Given the description of an element on the screen output the (x, y) to click on. 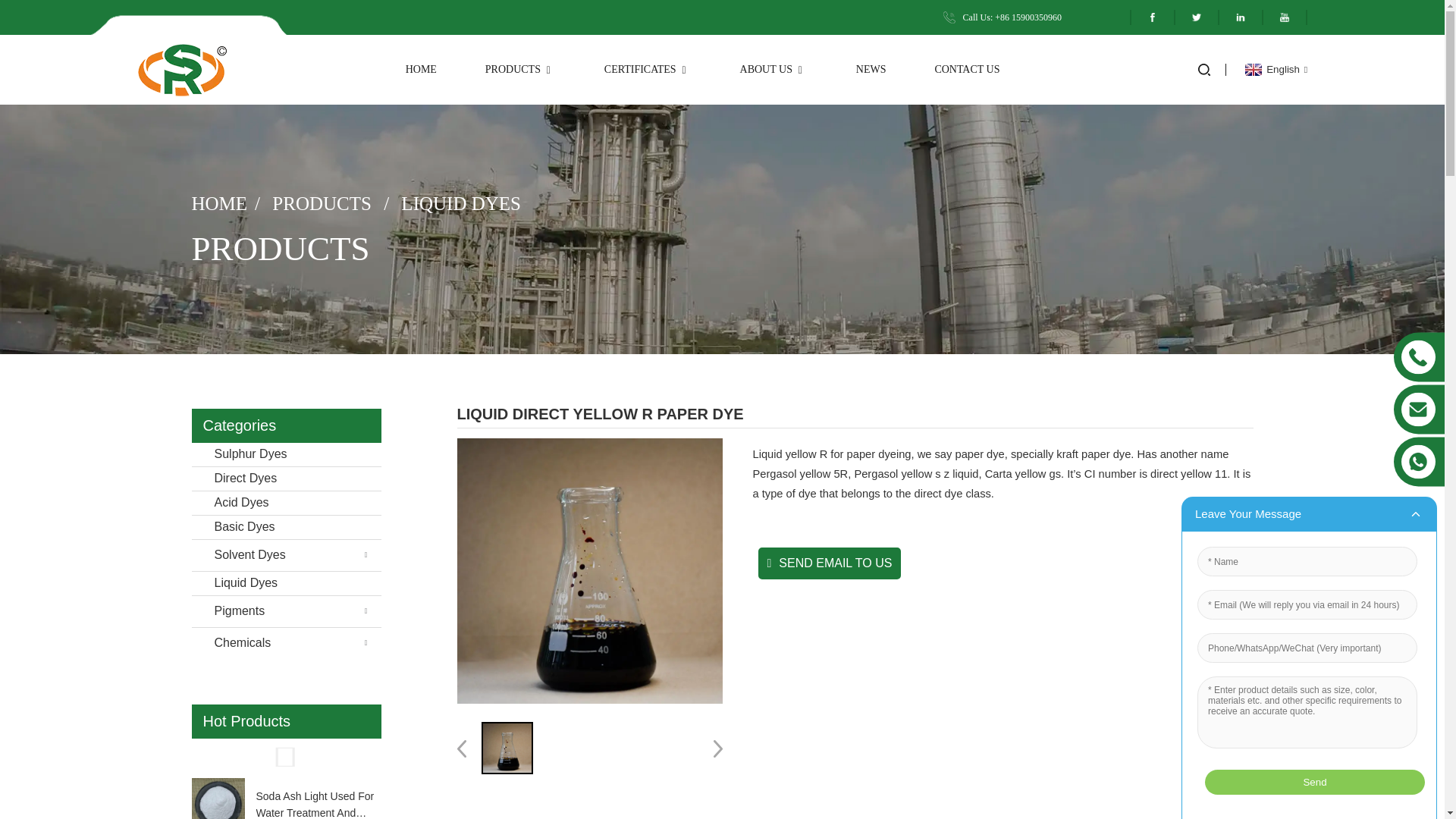
HOME (421, 69)
NEWS (871, 69)
CONTACT US (966, 69)
ABOUT US (773, 69)
PRODUCTS (520, 69)
English (1274, 69)
CERTIFICATES (647, 69)
